Given the description of an element on the screen output the (x, y) to click on. 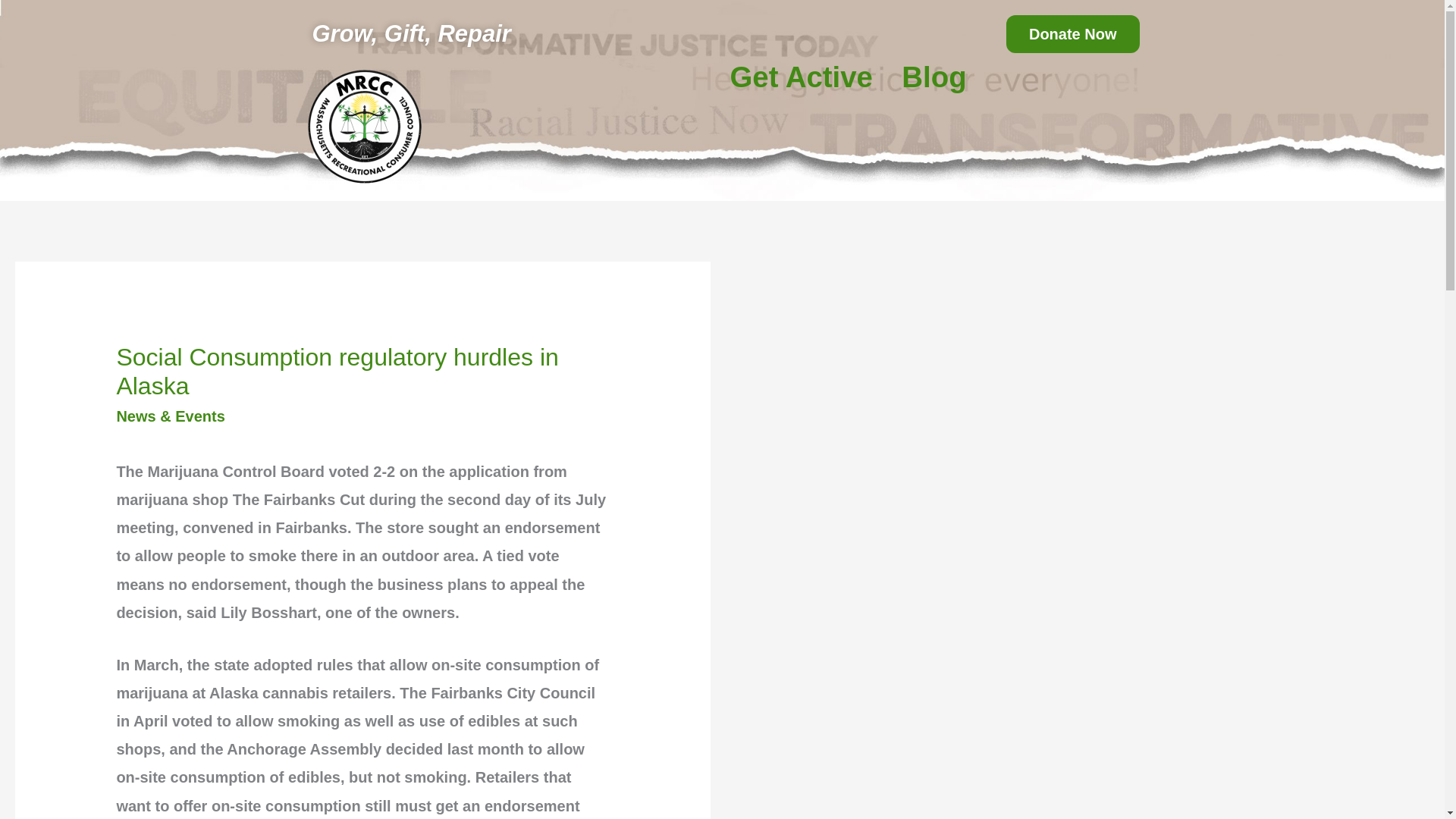
Donate Now (1073, 34)
